Given the description of an element on the screen output the (x, y) to click on. 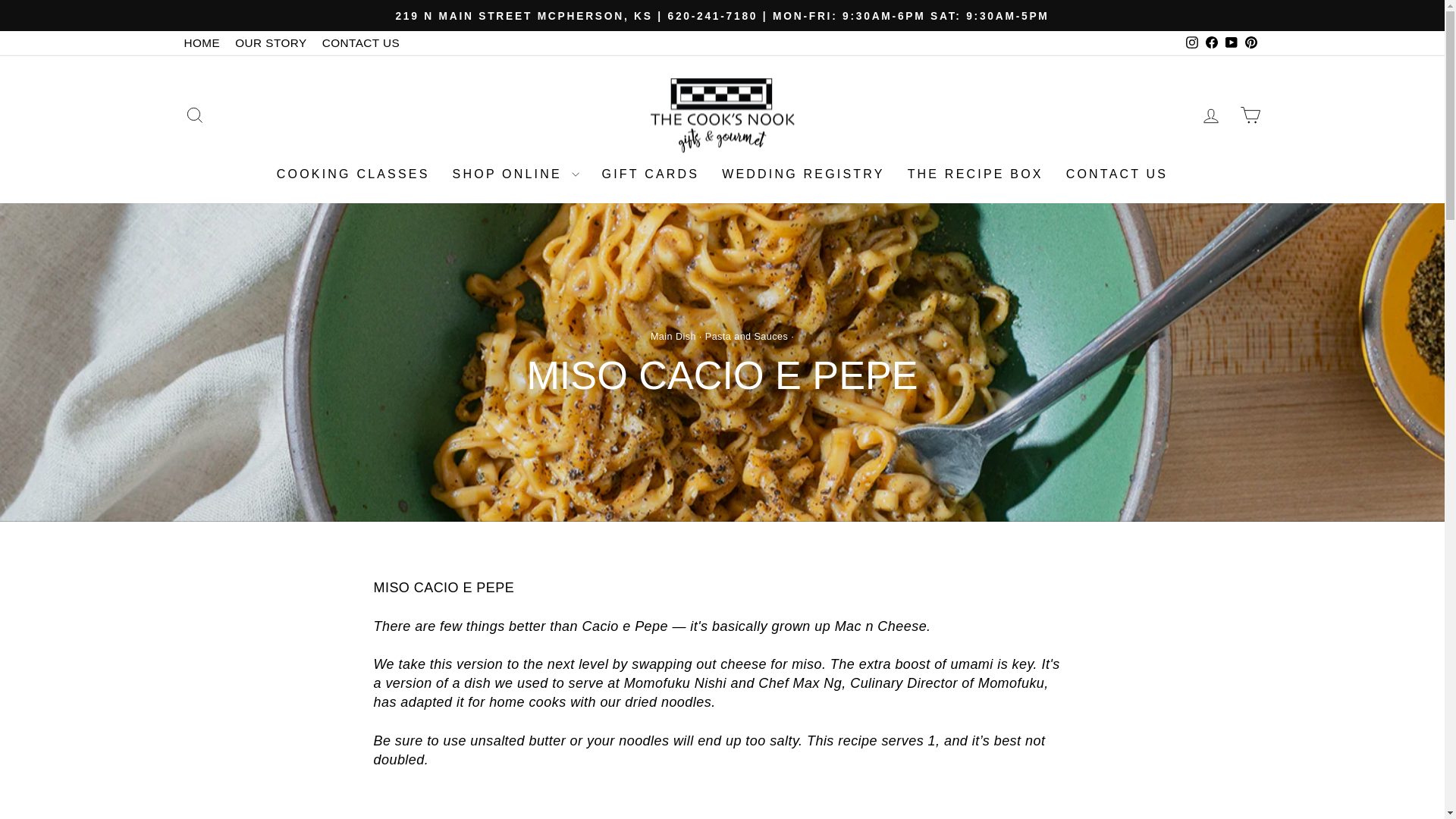
instagram (1192, 42)
ICON-SEARCH (194, 115)
ACCOUNT (1210, 115)
YouTube video player (721, 803)
